Given the description of an element on the screen output the (x, y) to click on. 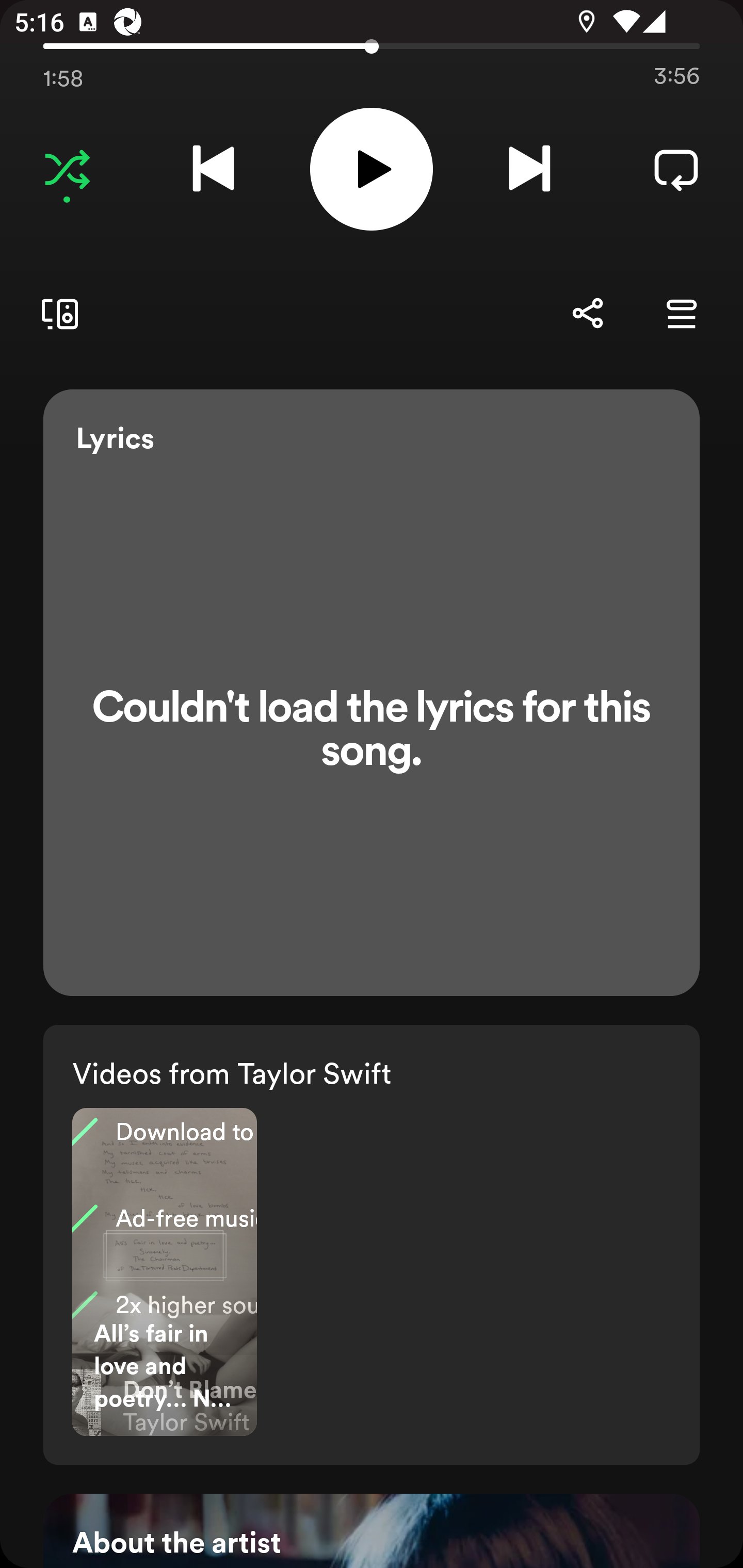
118000.0 Use volume keys to adjust (371, 42)
Play (371, 169)
Previous (212, 168)
Next (529, 168)
Stop shuffling tracks (66, 168)
Repeat (676, 168)
Share (587, 313)
Go to Queue (681, 313)
Connect to a device. Opens the devices menu (55, 313)
